Given the description of an element on the screen output the (x, y) to click on. 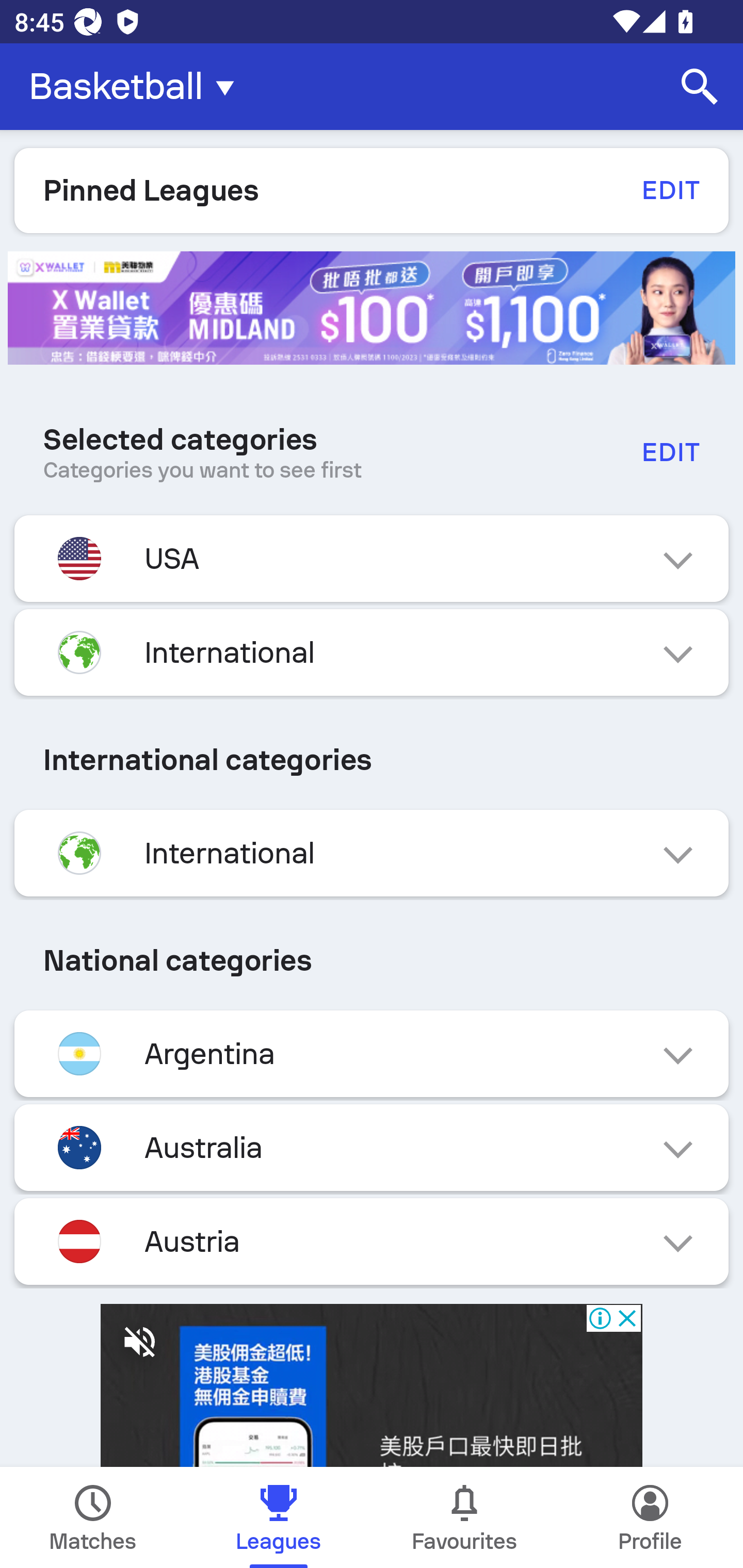
Basketball (137, 86)
Search (699, 86)
Pinned Leagues EDIT (371, 190)
EDIT (670, 190)
Advertisement (372, 307)
EDIT (670, 452)
USA (371, 558)
International (371, 652)
International categories (371, 759)
International (371, 852)
National categories (371, 960)
Argentina (371, 1053)
Australia (371, 1147)
Austria (371, 1240)
Matches (92, 1517)
Favourites (464, 1517)
Profile (650, 1517)
